Given the description of an element on the screen output the (x, y) to click on. 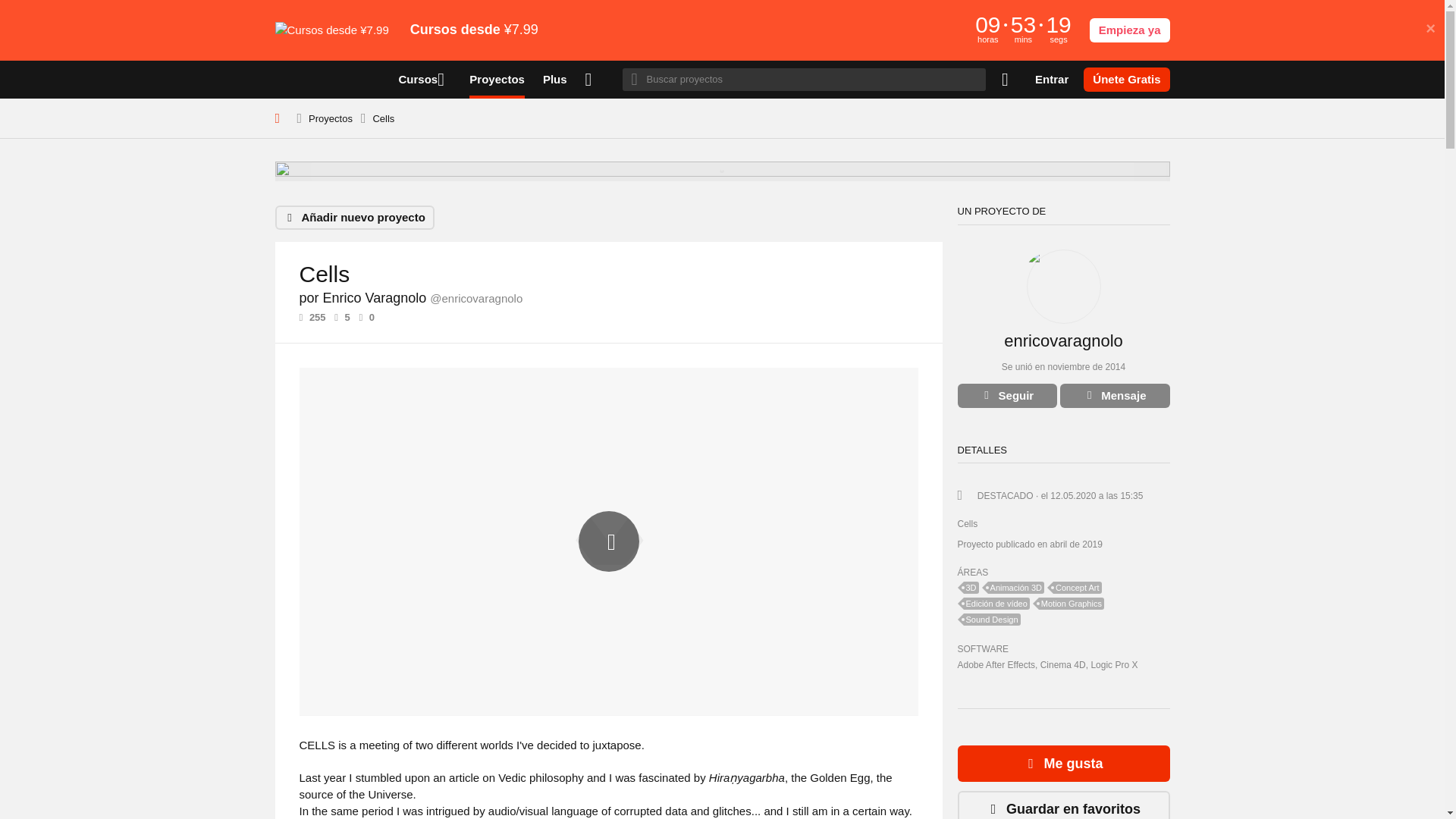
Entrar (1051, 79)
Cursos (424, 79)
DOMESTIKA (327, 79)
Enrico Varagnolo (1062, 266)
Proyectos (496, 79)
Proyectos (330, 118)
